Given the description of an element on the screen output the (x, y) to click on. 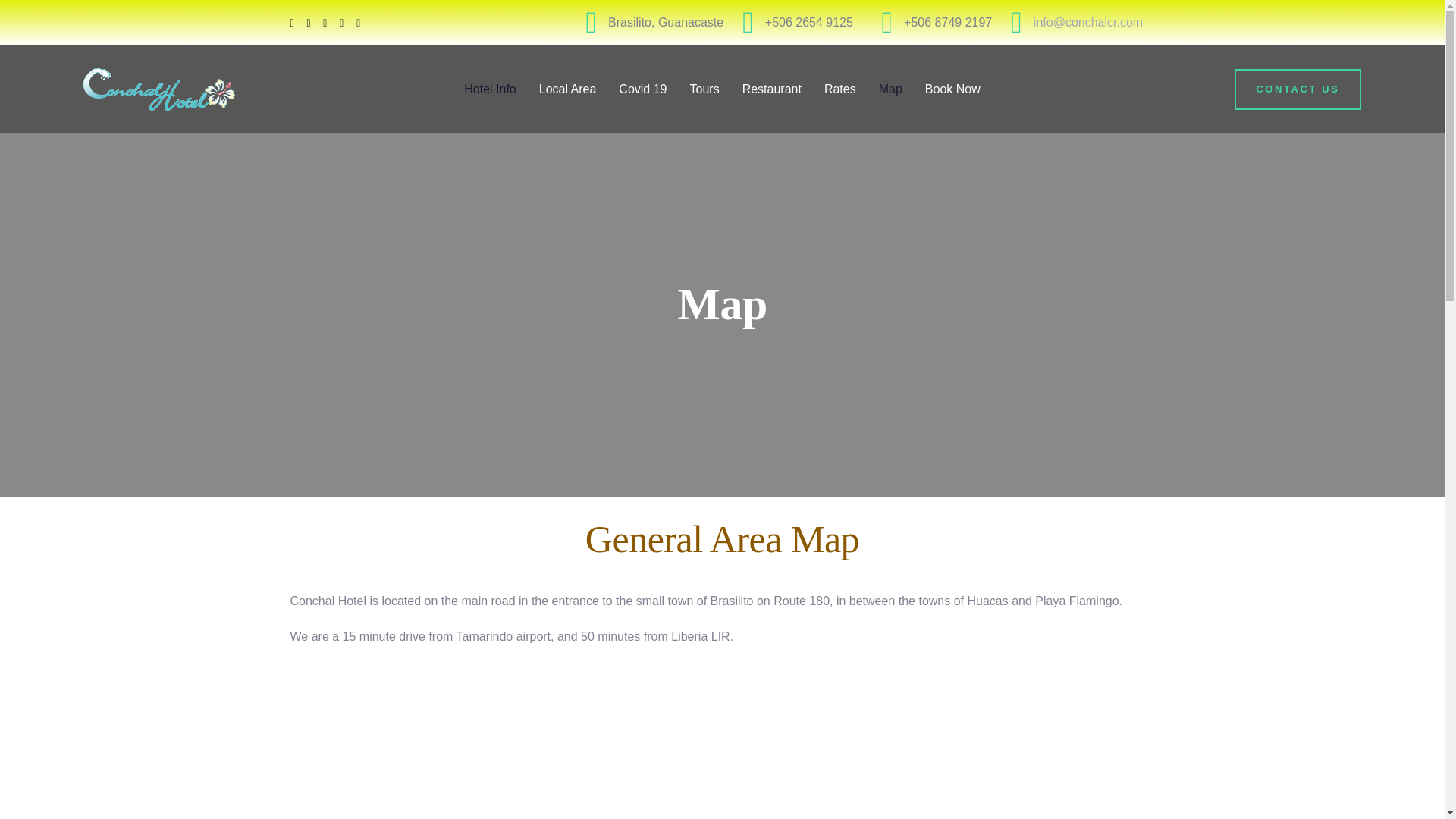
Contact Us (1297, 88)
CONTACT US (1297, 88)
Local Area (567, 89)
Restaurant (771, 89)
